Given the description of an element on the screen output the (x, y) to click on. 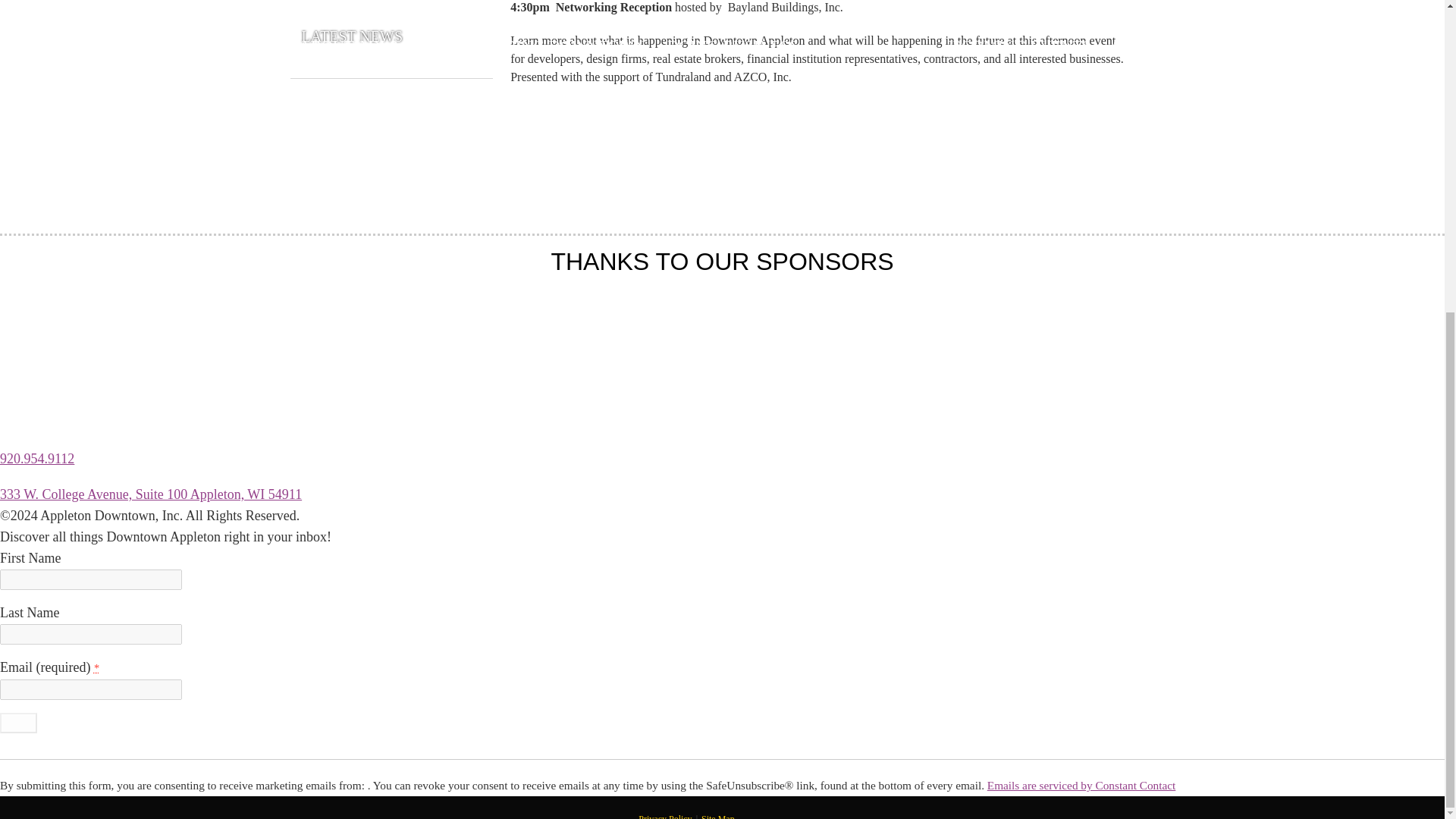
GO! (18, 722)
